Given the description of an element on the screen output the (x, y) to click on. 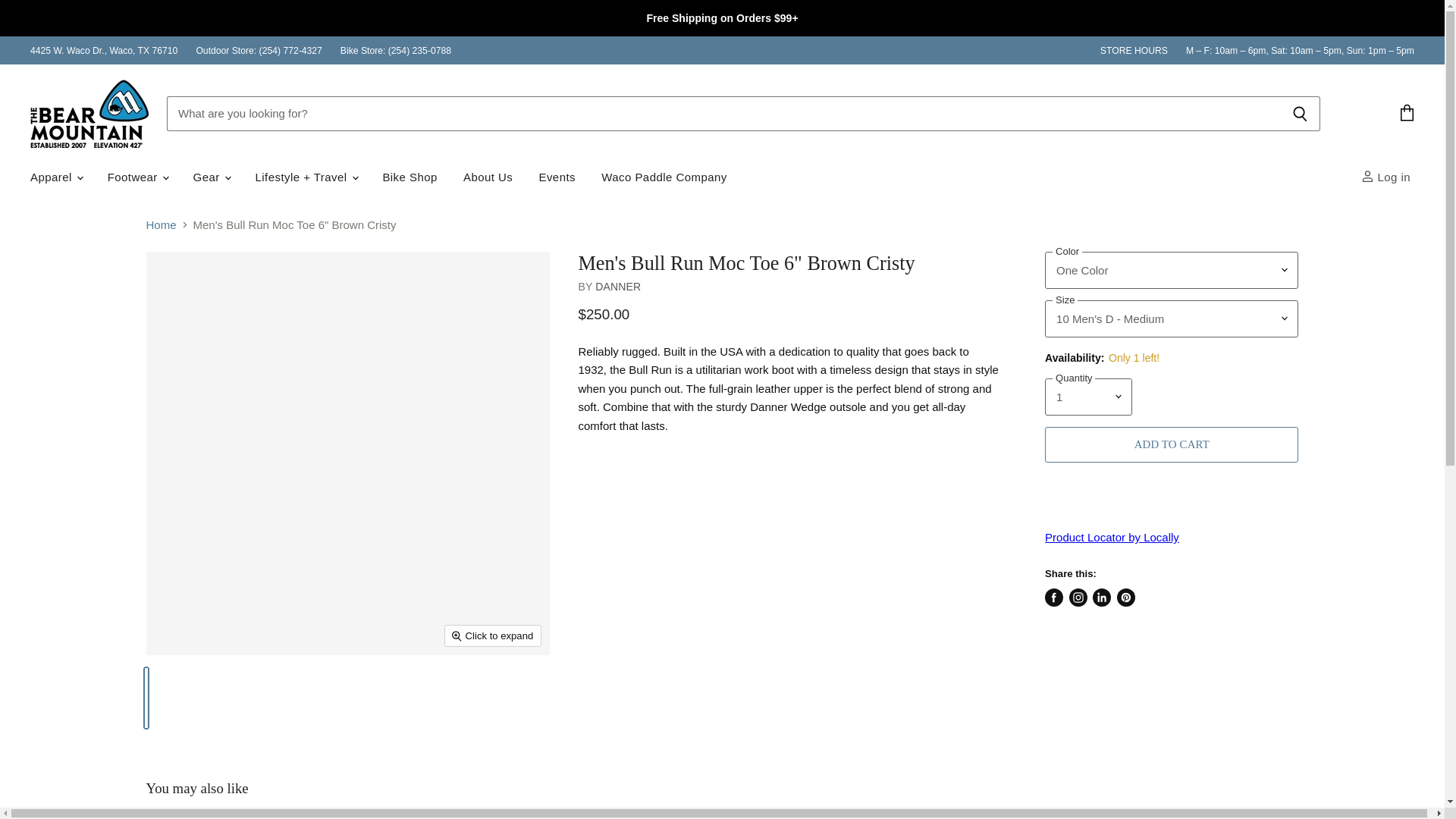
Apparel (55, 176)
STORE HOURS (1133, 50)
4425 W. Waco Dr., Waco, TX 76710 (103, 50)
Danner (617, 286)
Account icon (1367, 175)
